Given the description of an element on the screen output the (x, y) to click on. 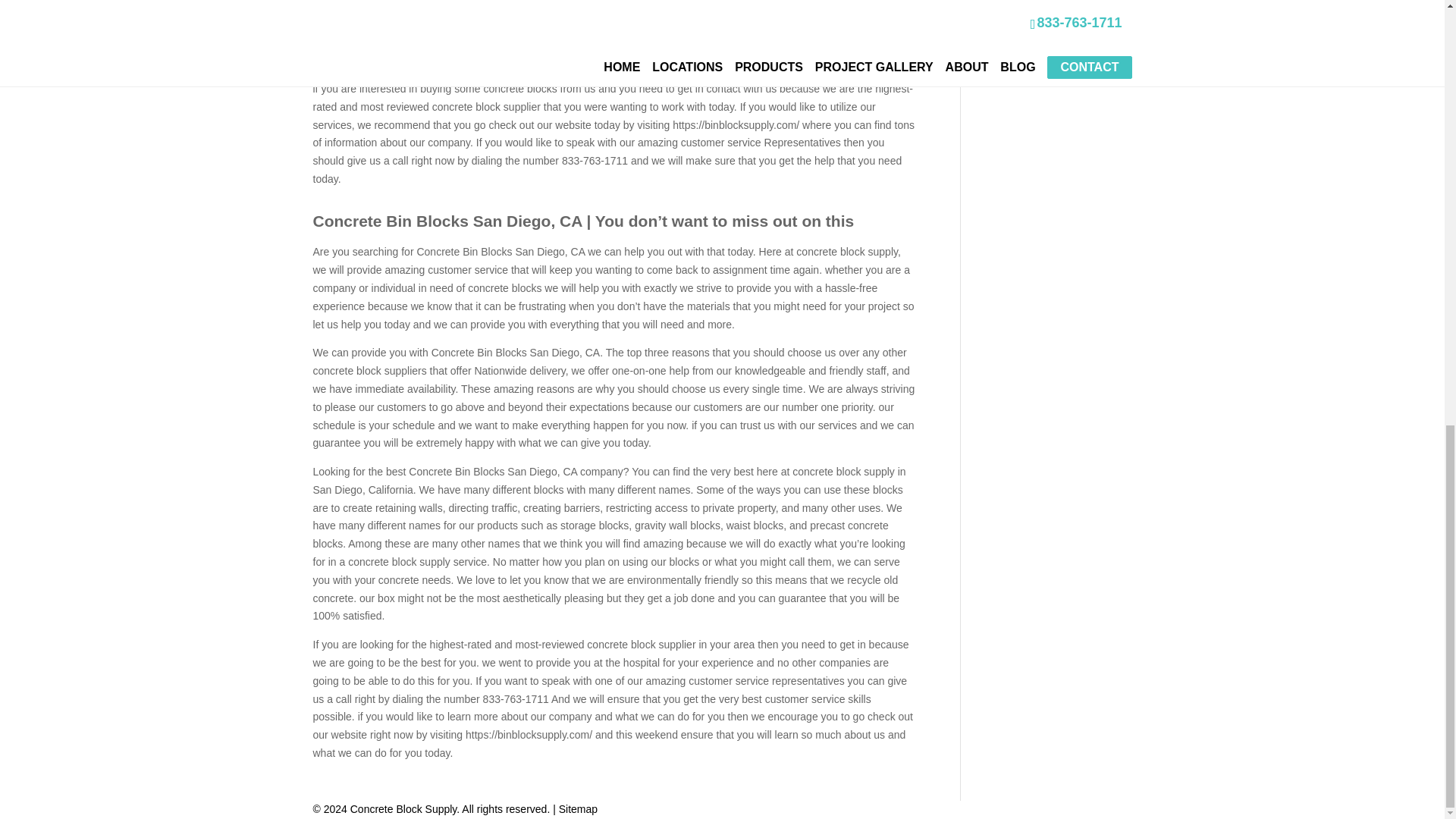
Sitemap (577, 808)
